Given the description of an element on the screen output the (x, y) to click on. 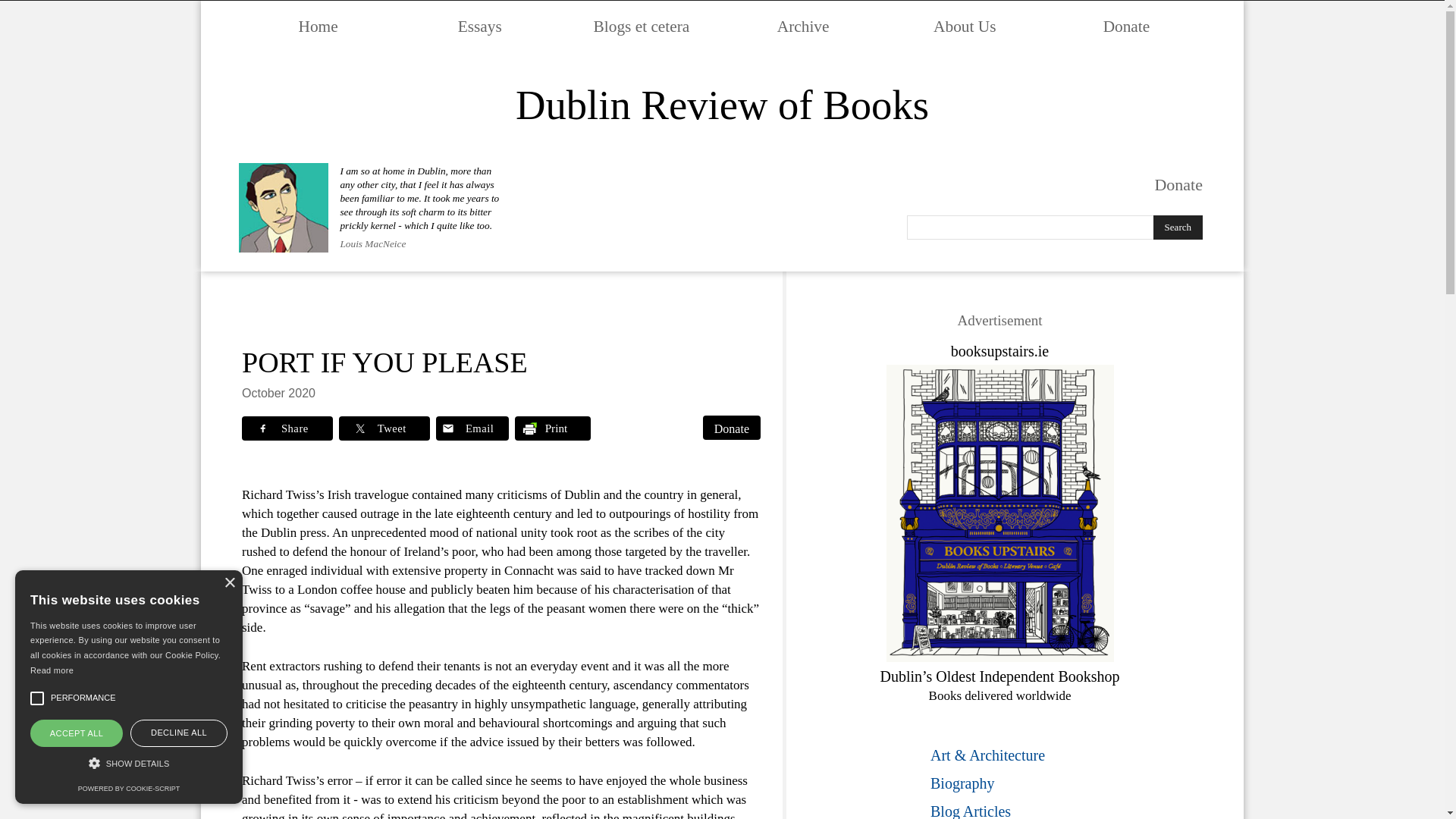
About Us (964, 26)
Blogs et cetera (641, 26)
Donate (1126, 26)
Archive (803, 26)
Louis MacNeice (372, 243)
Home (318, 26)
Dublin Review of Books (722, 105)
Donate (1178, 184)
Louis MacNeice (372, 243)
Dublin Review of Books (722, 105)
Essays (479, 26)
header-testimonial (283, 207)
Donate (731, 427)
Search (1177, 227)
booksupstairs.ie (999, 351)
